Given the description of an element on the screen output the (x, y) to click on. 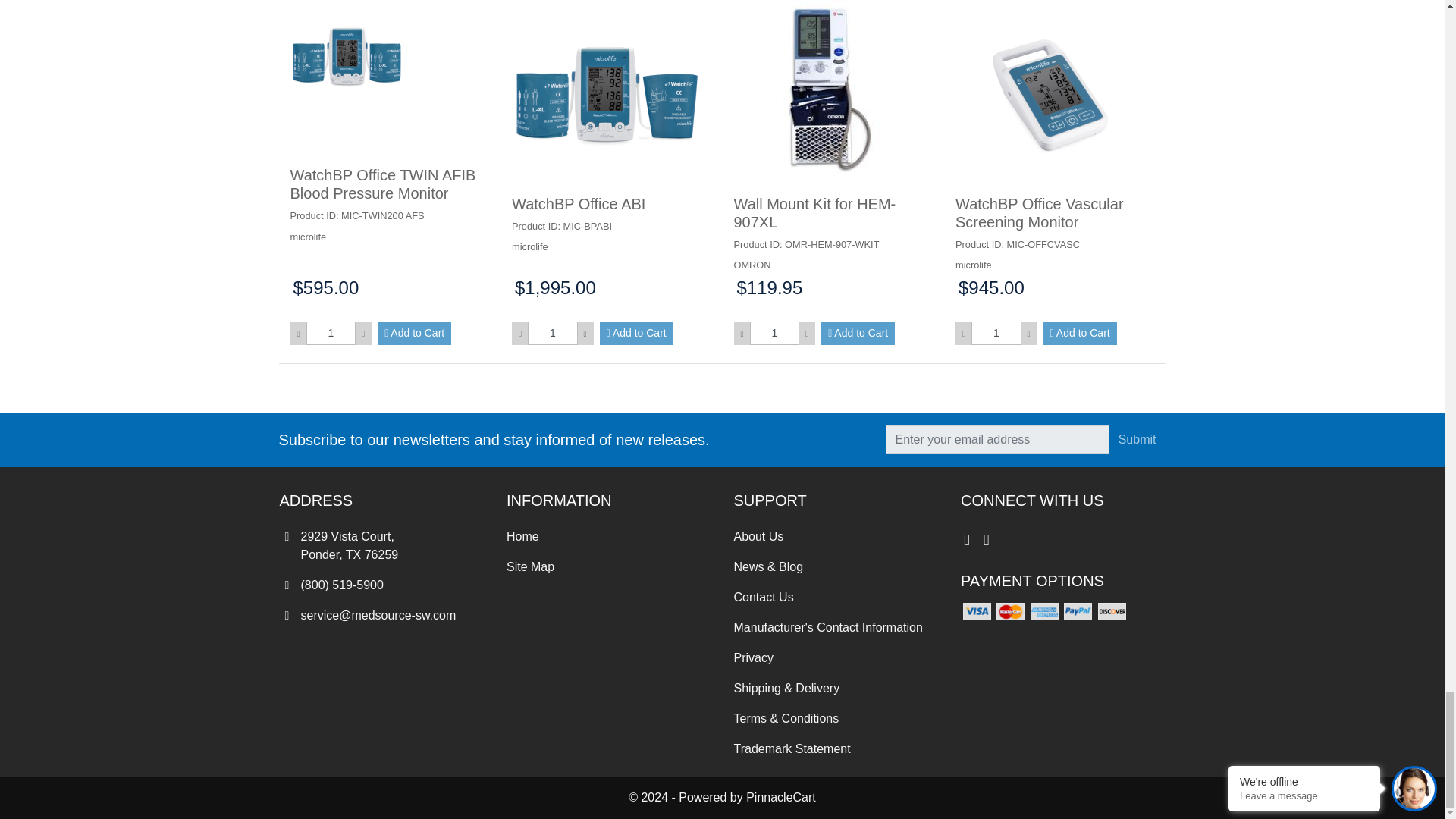
1 (551, 332)
Wall Mount Kit for HEM-907XL (828, 94)
1 (774, 332)
WatchBP Office TWIN AFIB Blood Pressure Monitor (346, 56)
WatchBP Office Vascular Screening Monitor (1049, 94)
1 (330, 332)
1 (995, 332)
WatchBP Office ABI (606, 94)
